Given the description of an element on the screen output the (x, y) to click on. 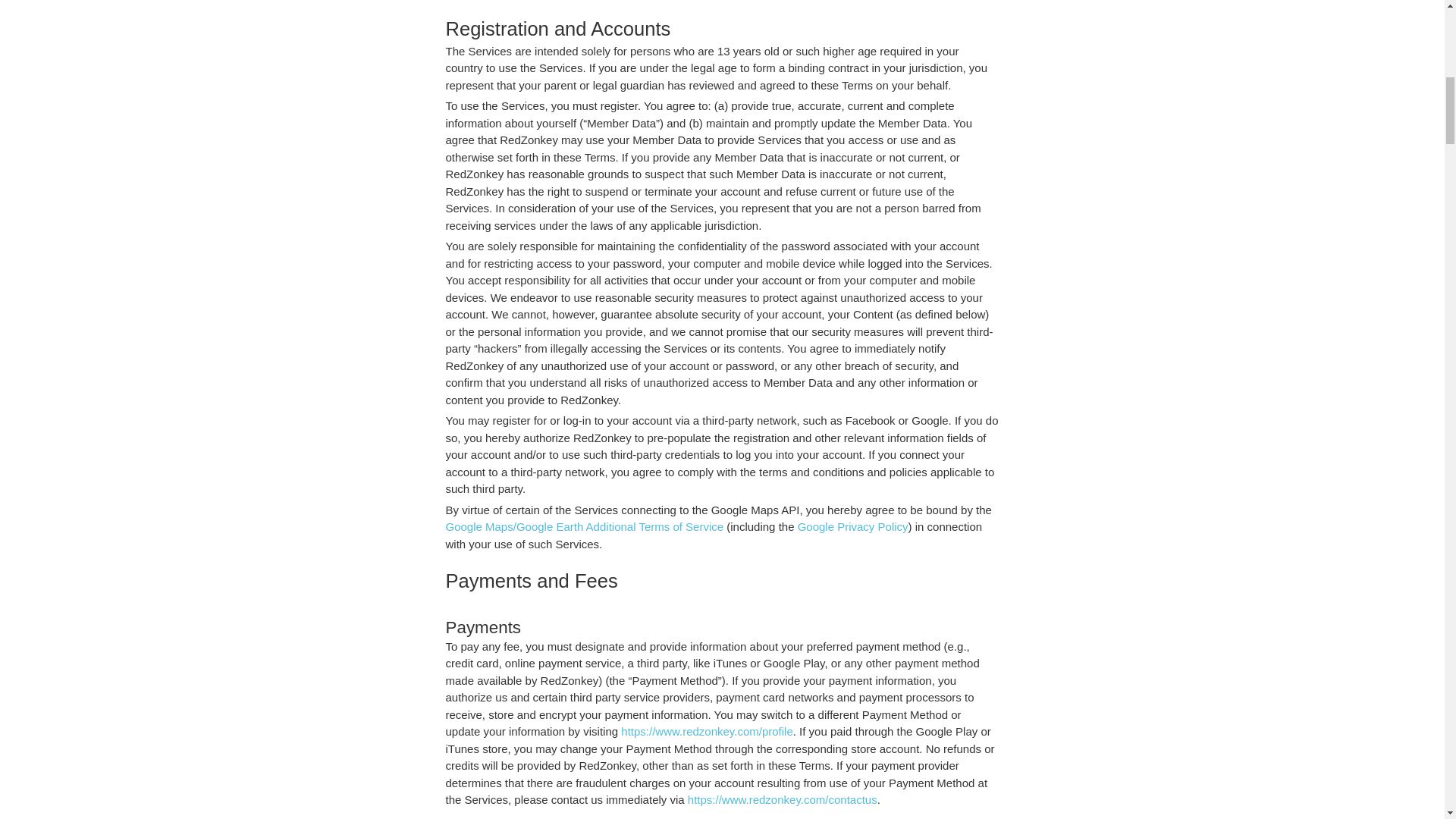
Google Privacy Policy (852, 526)
